Given the description of an element on the screen output the (x, y) to click on. 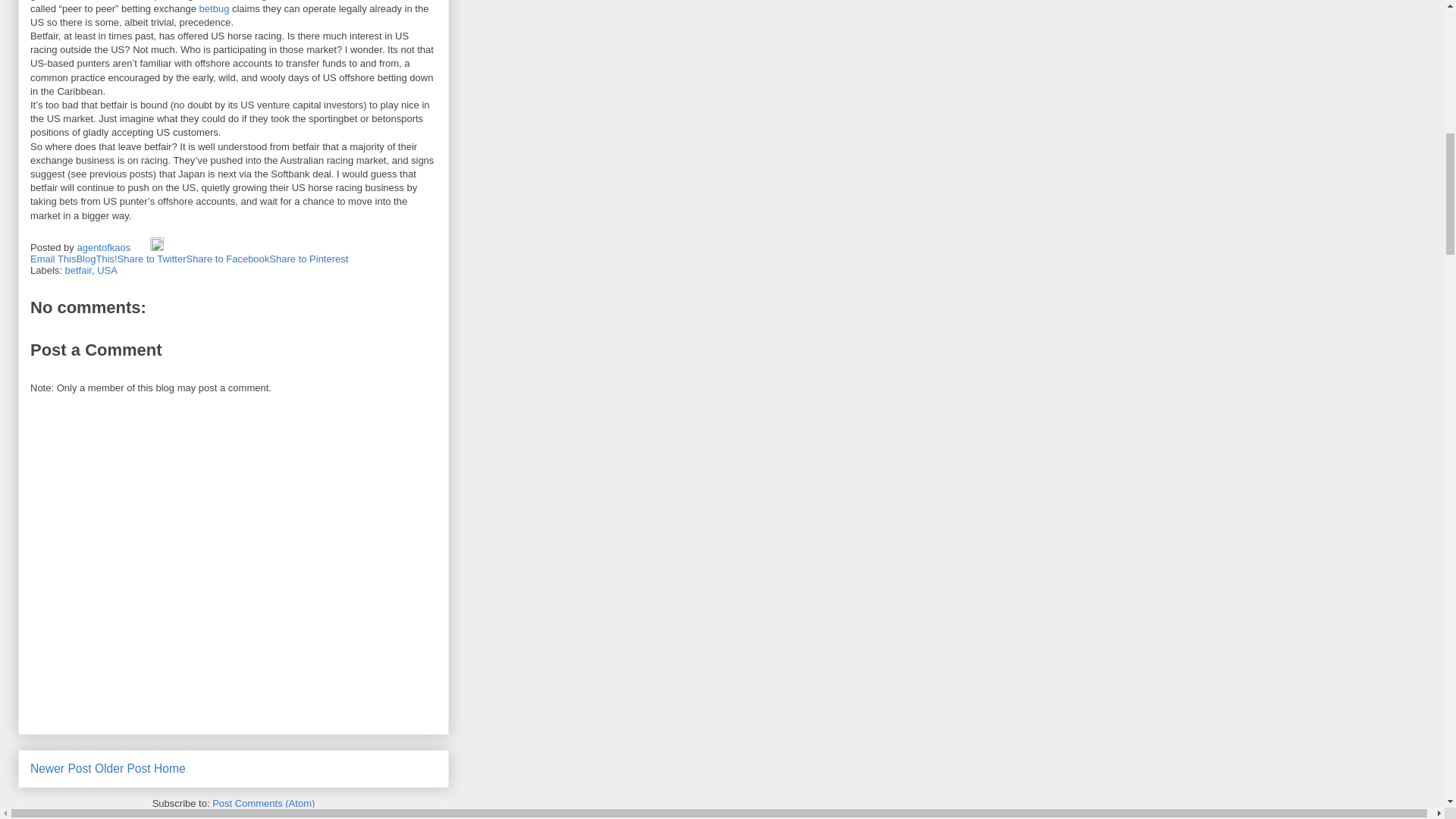
agentofkaos (104, 247)
Share to Pinterest (308, 258)
Newer Post (60, 768)
Email This (52, 258)
Older Post (122, 768)
Email This (52, 258)
betbug (214, 8)
author profile (104, 247)
Home (170, 768)
Newer Post (60, 768)
Email Post (141, 247)
Edit Post (156, 247)
Share to Facebook (227, 258)
Share to Pinterest (308, 258)
USA (107, 270)
